Given the description of an element on the screen output the (x, y) to click on. 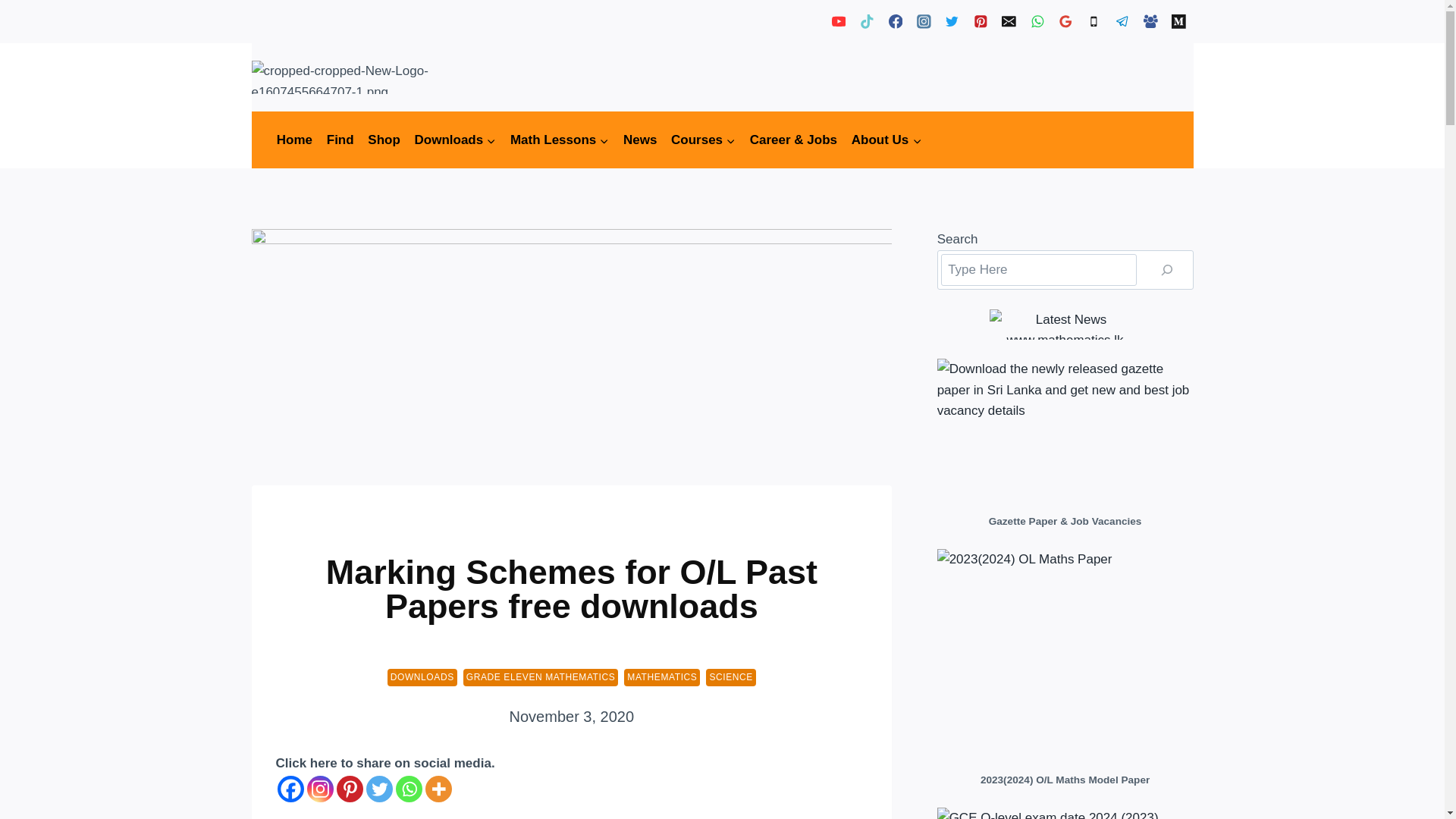
Facebook (291, 788)
Twitter (378, 788)
Pinterest (349, 788)
Whatsapp (409, 788)
More (438, 788)
Math Lessons (559, 139)
Instagram (319, 788)
Courses (702, 139)
Downloads (454, 139)
